Given the description of an element on the screen output the (x, y) to click on. 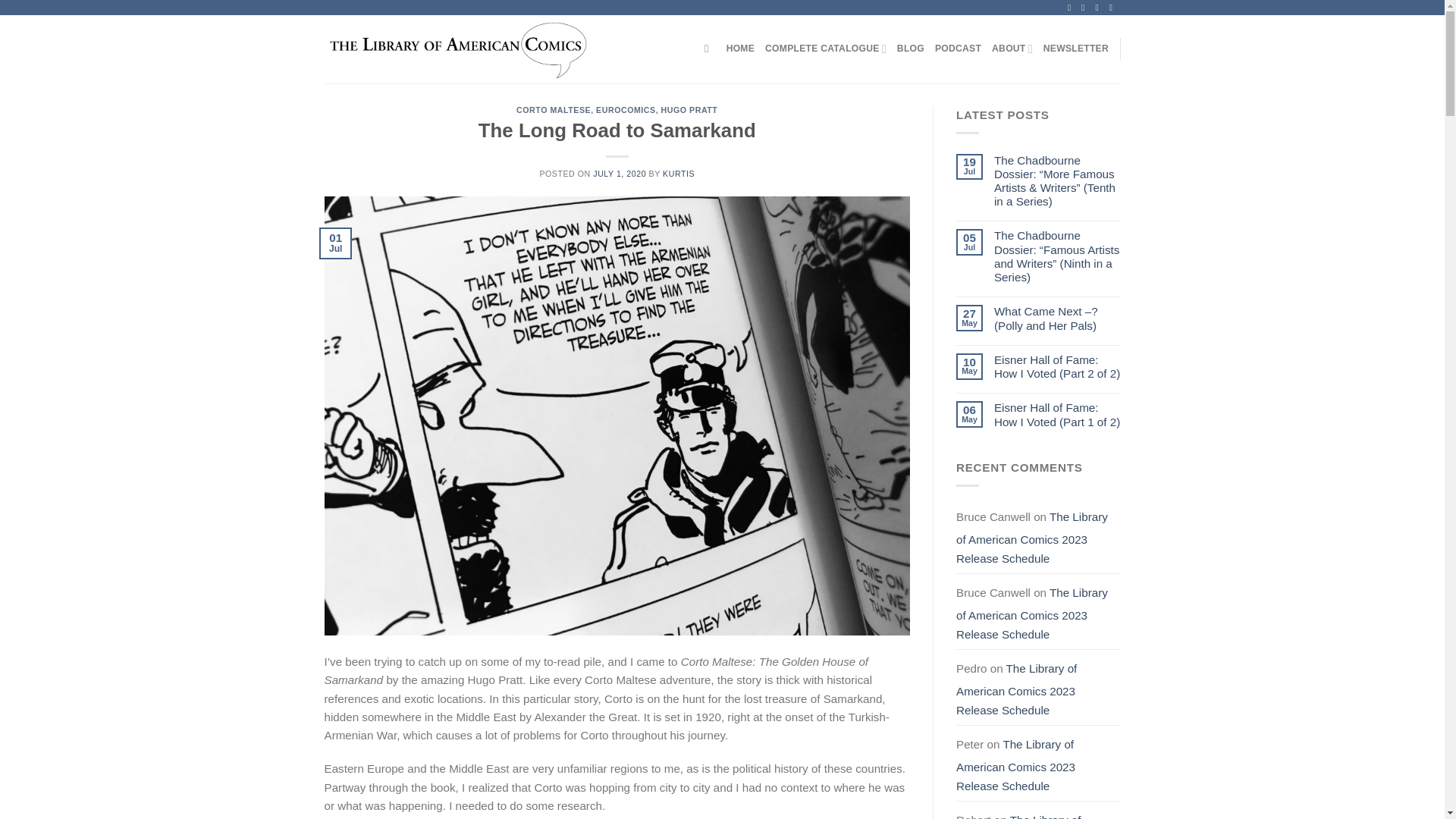
Sign up for Newsletter (1075, 48)
CORTO MALTESE (553, 109)
NEWSLETTER (1075, 48)
Follow on Twitter (1098, 7)
JULY 1, 2020 (619, 173)
Follow on Instagram (1085, 7)
ABOUT (1011, 48)
Follow on Facebook (1071, 7)
Send us an email (1113, 7)
PODCAST (957, 48)
HUGO PRATT (689, 109)
EUROCOMICS (625, 109)
KURTIS (678, 173)
COMPLETE CATALOGUE (825, 48)
BLOG (910, 48)
